Given the description of an element on the screen output the (x, y) to click on. 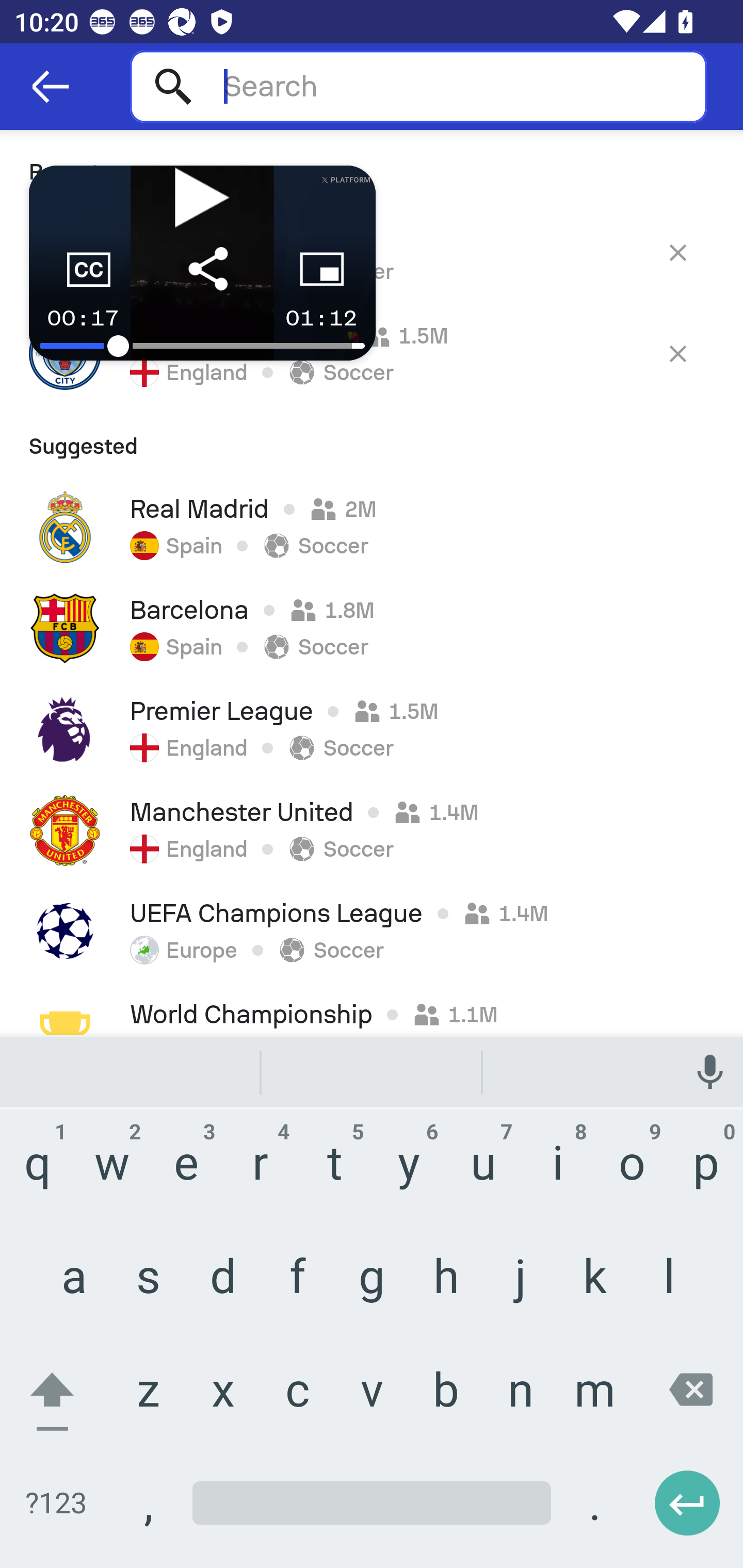
Navigate up (50, 86)
Search (418, 86)
Suggested (371, 440)
Real Madrid 2M Spain Soccer (371, 526)
Barcelona 1.8M Spain Soccer (371, 627)
Premier League 1.5M England Soccer (371, 728)
Manchester United 1.4M England Soccer (371, 830)
UEFA Champions League 1.4M Europe Soccer (371, 931)
World Championship 1.1M (371, 1007)
